Given the description of an element on the screen output the (x, y) to click on. 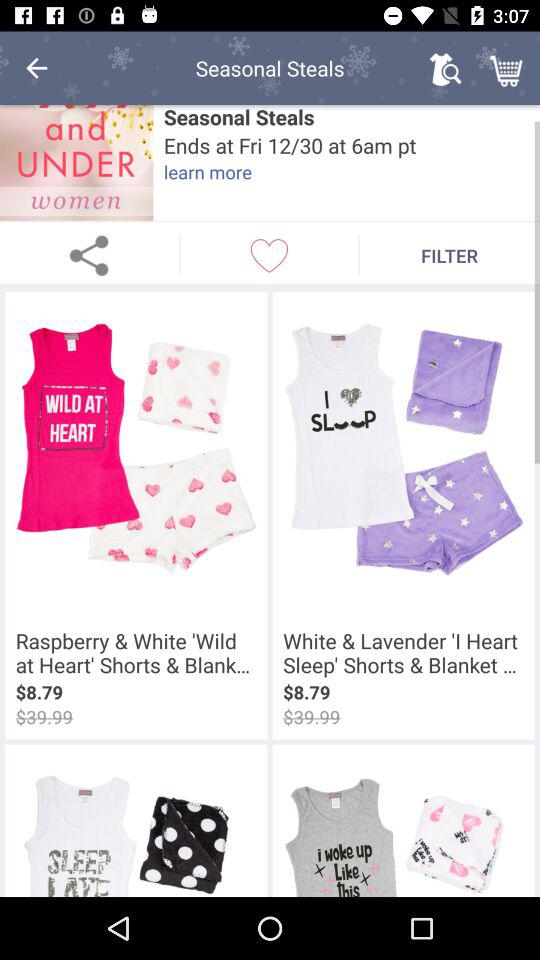
choose the icon next to the seasonal steals icon (76, 162)
